Given the description of an element on the screen output the (x, y) to click on. 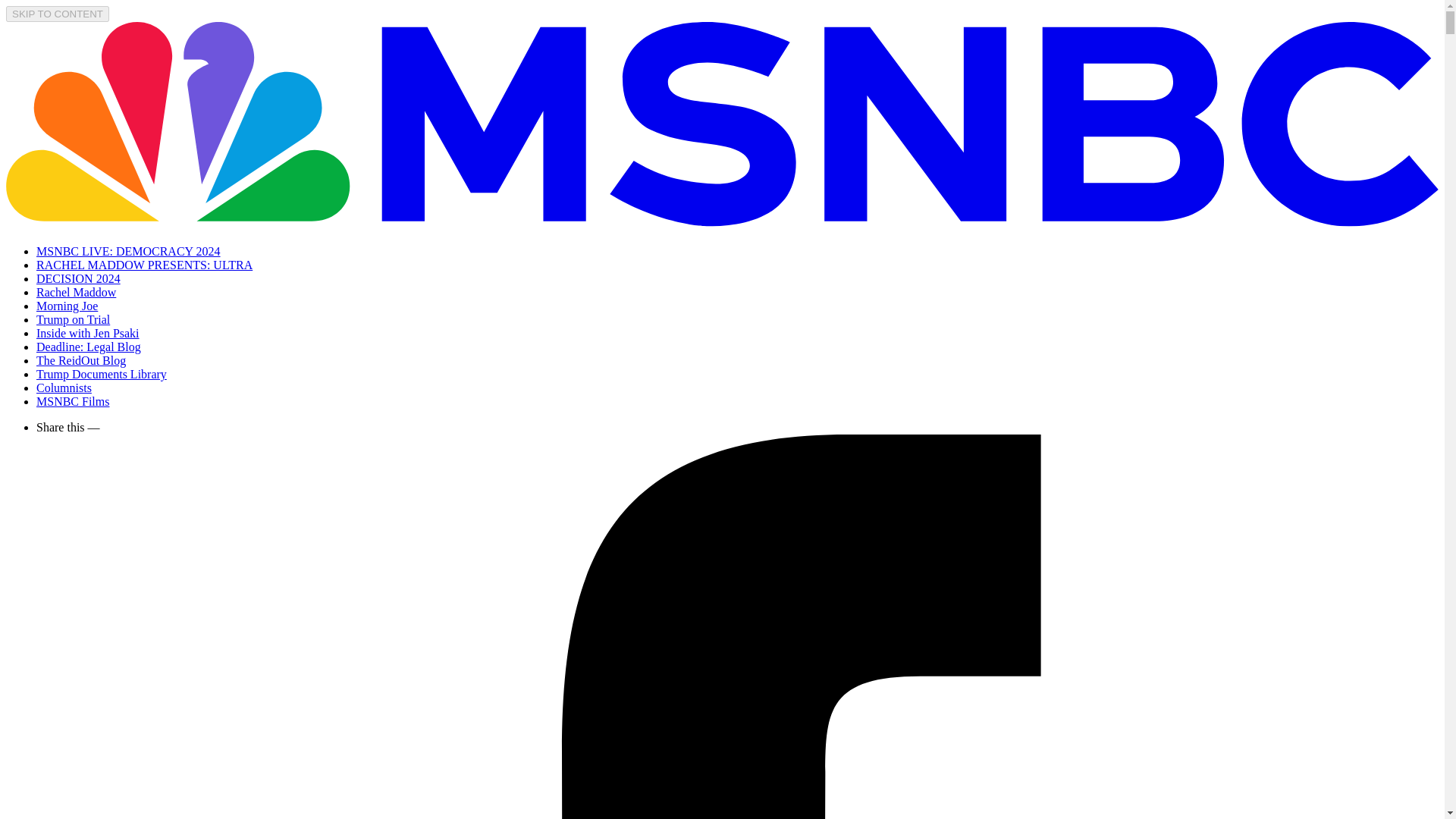
MSNBC LIVE: DEMOCRACY 2024 (128, 250)
MSNBC Films (72, 400)
SKIP TO CONTENT (57, 13)
RACHEL MADDOW PRESENTS: ULTRA (143, 264)
Morning Joe (66, 305)
Deadline: Legal Blog (88, 346)
Trump on Trial (73, 318)
Trump Documents Library (101, 373)
DECISION 2024 (78, 278)
Rachel Maddow (76, 291)
The ReidOut Blog (80, 359)
Inside with Jen Psaki (87, 332)
Columnists (63, 387)
